Given the description of an element on the screen output the (x, y) to click on. 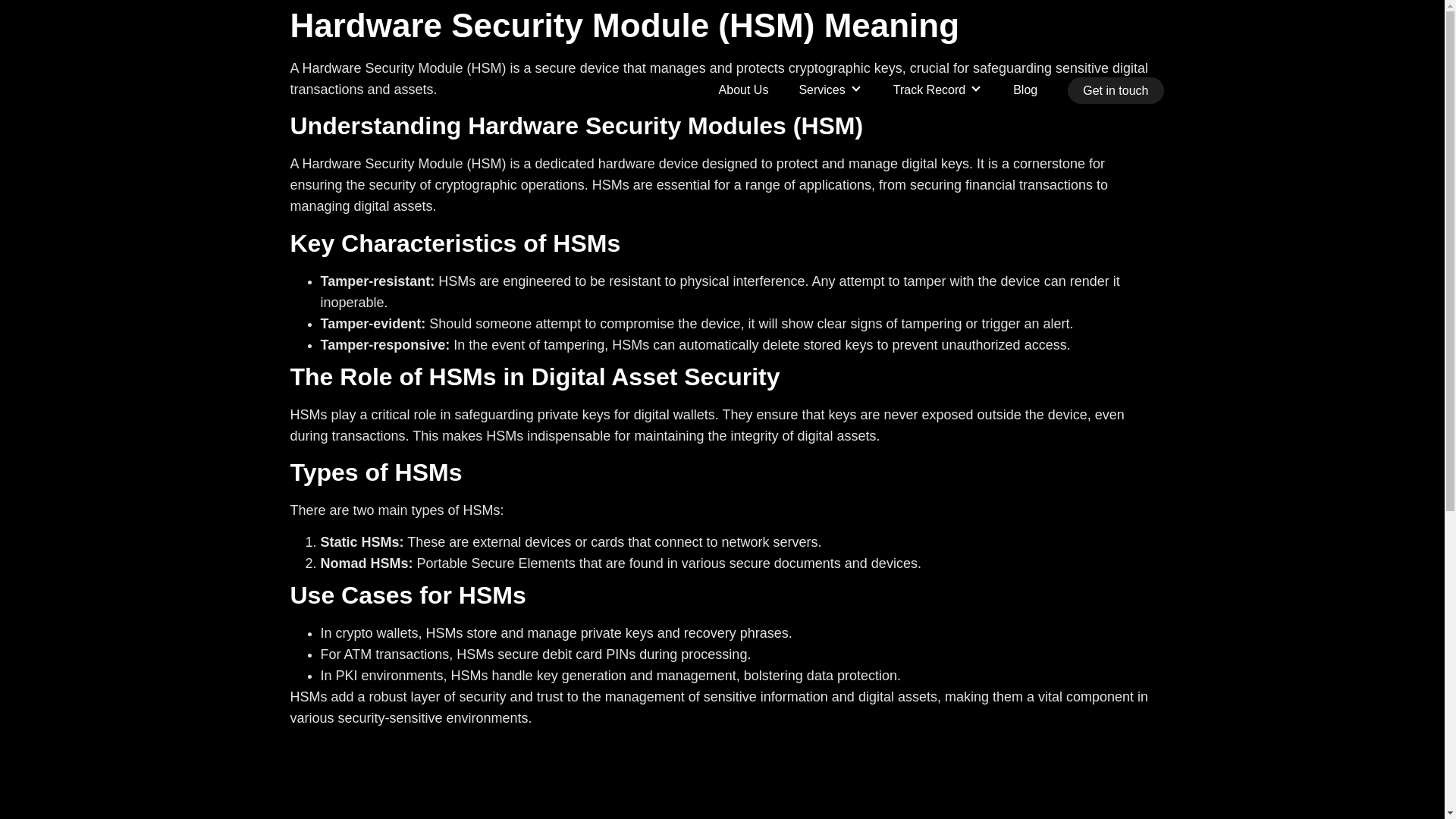
Get in touch (1115, 90)
Services (829, 89)
About Us (743, 89)
Track Record (937, 89)
Blog (1024, 89)
